Given the description of an element on the screen output the (x, y) to click on. 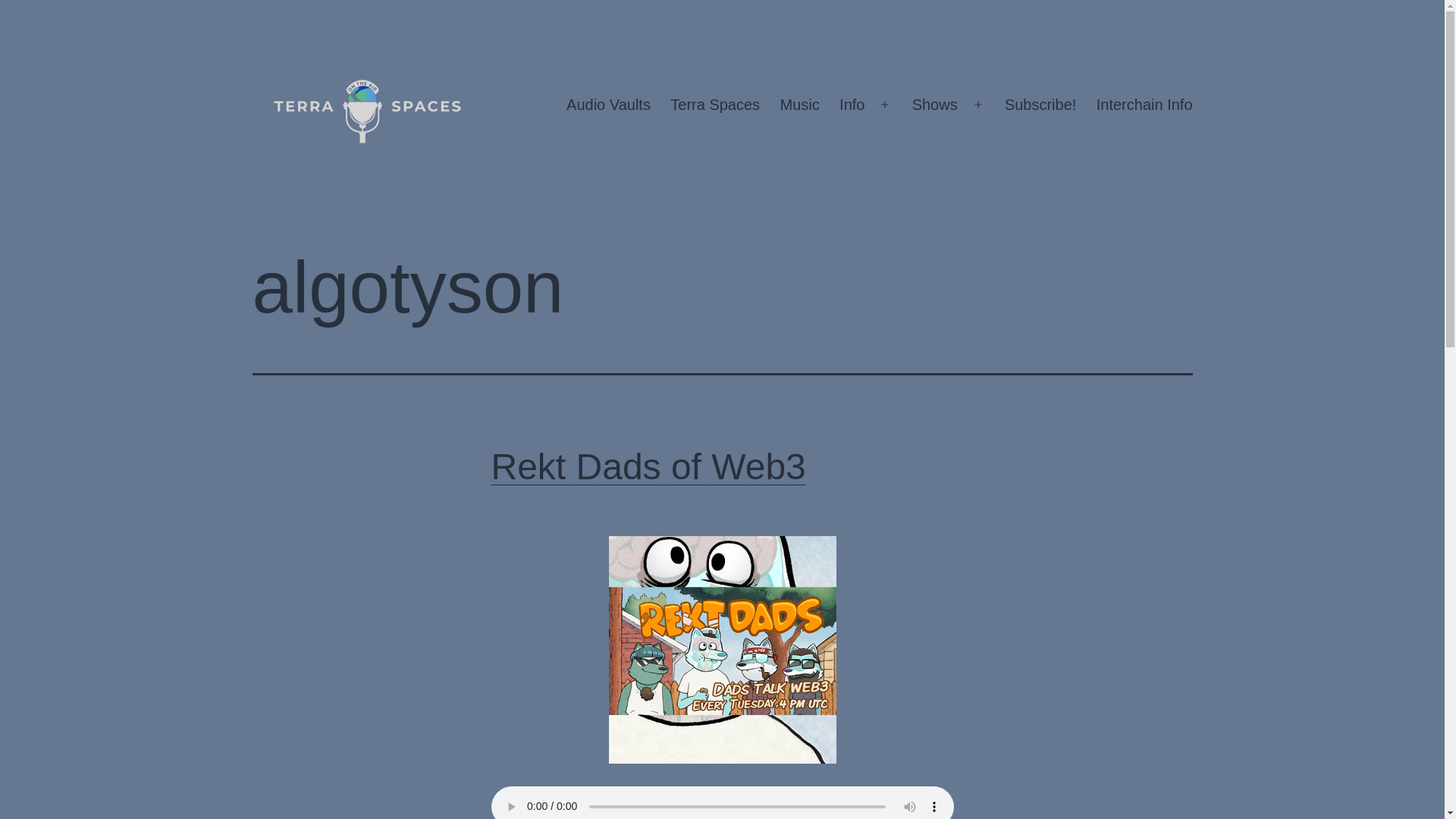
Shows (933, 105)
Audio Vaults (608, 105)
Terra Spaces (715, 105)
Info (852, 105)
Music (799, 105)
Subscribe! (1040, 105)
